Given the description of an element on the screen output the (x, y) to click on. 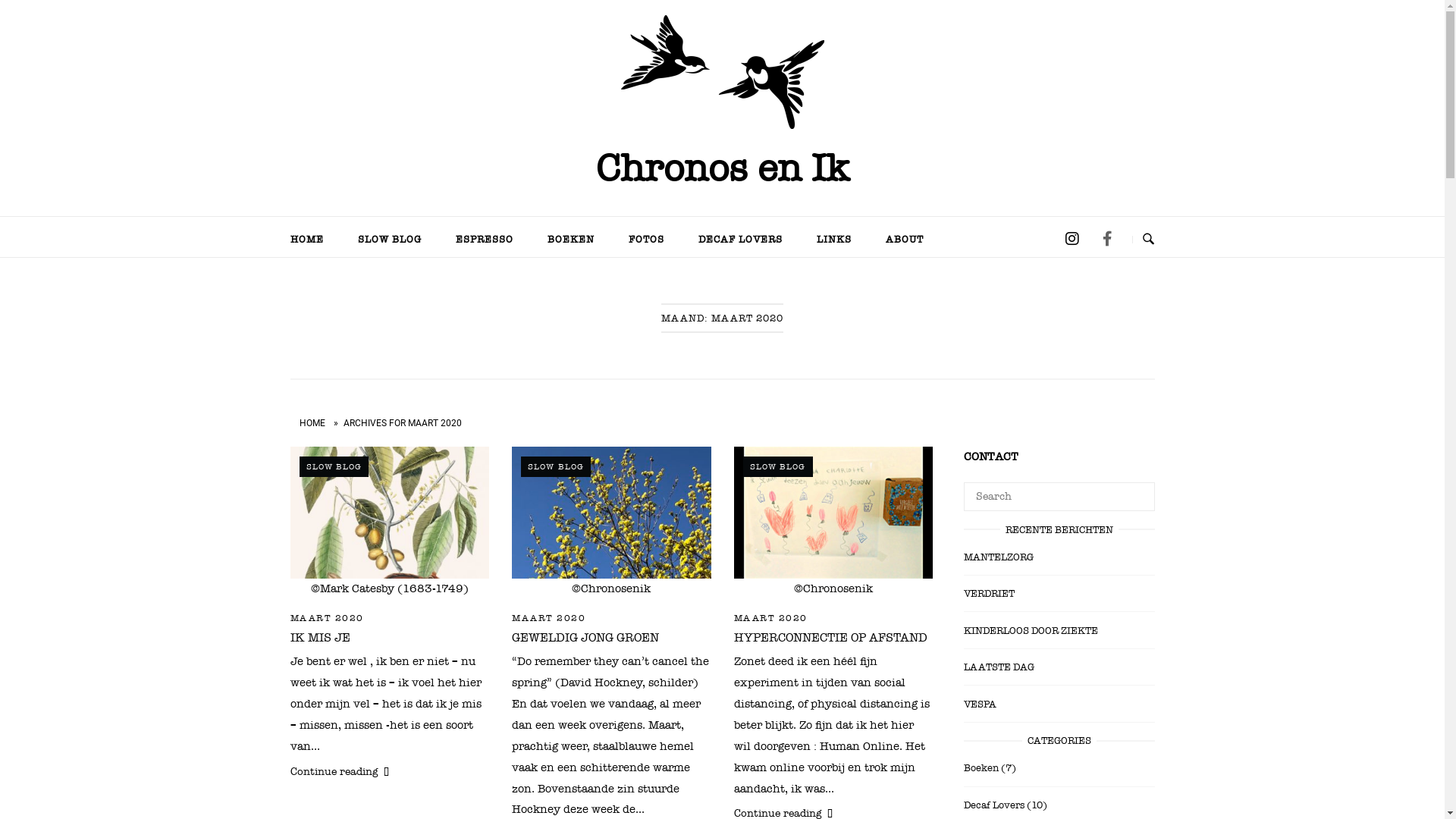
DECAF LOVERS Element type: text (740, 239)
VESPA Element type: text (979, 706)
MAART 2020 Element type: text (770, 617)
SLOW BLOG Element type: text (555, 466)
ESPRESSO Element type: text (484, 239)
HOME Element type: text (307, 239)
VERDRIET Element type: text (988, 595)
Continue reading Element type: text (389, 769)
SLOW BLOG Element type: text (333, 466)
KINDERLOOS DOOR ZIEKTE Element type: text (1030, 632)
Boeken Element type: text (980, 767)
BOEKEN Element type: text (570, 239)
CONTACT Element type: text (990, 456)
MAART 2020 Element type: text (548, 617)
HYPERCONNECTIE OP AFSTAND Element type: text (830, 637)
GEWELDIG JONG GROEN Element type: text (584, 637)
SLOW BLOG Element type: text (777, 466)
FOTOS Element type: text (646, 239)
Chronos en Ik op Facebook Element type: hover (1107, 238)
MAART 2020 Element type: text (326, 617)
HOME Element type: text (311, 422)
IK MIS JE Element type: text (319, 637)
Home Element type: text (721, 75)
LAATSTE DAG Element type: text (998, 669)
Chronos en Ik op Instagram Element type: hover (1072, 238)
SLOW BLOG Element type: text (388, 239)
MANTELZORG Element type: text (997, 559)
LINKS Element type: text (833, 239)
Decaf Lovers Element type: text (993, 804)
ABOUT Element type: text (903, 239)
